Given the description of an element on the screen output the (x, y) to click on. 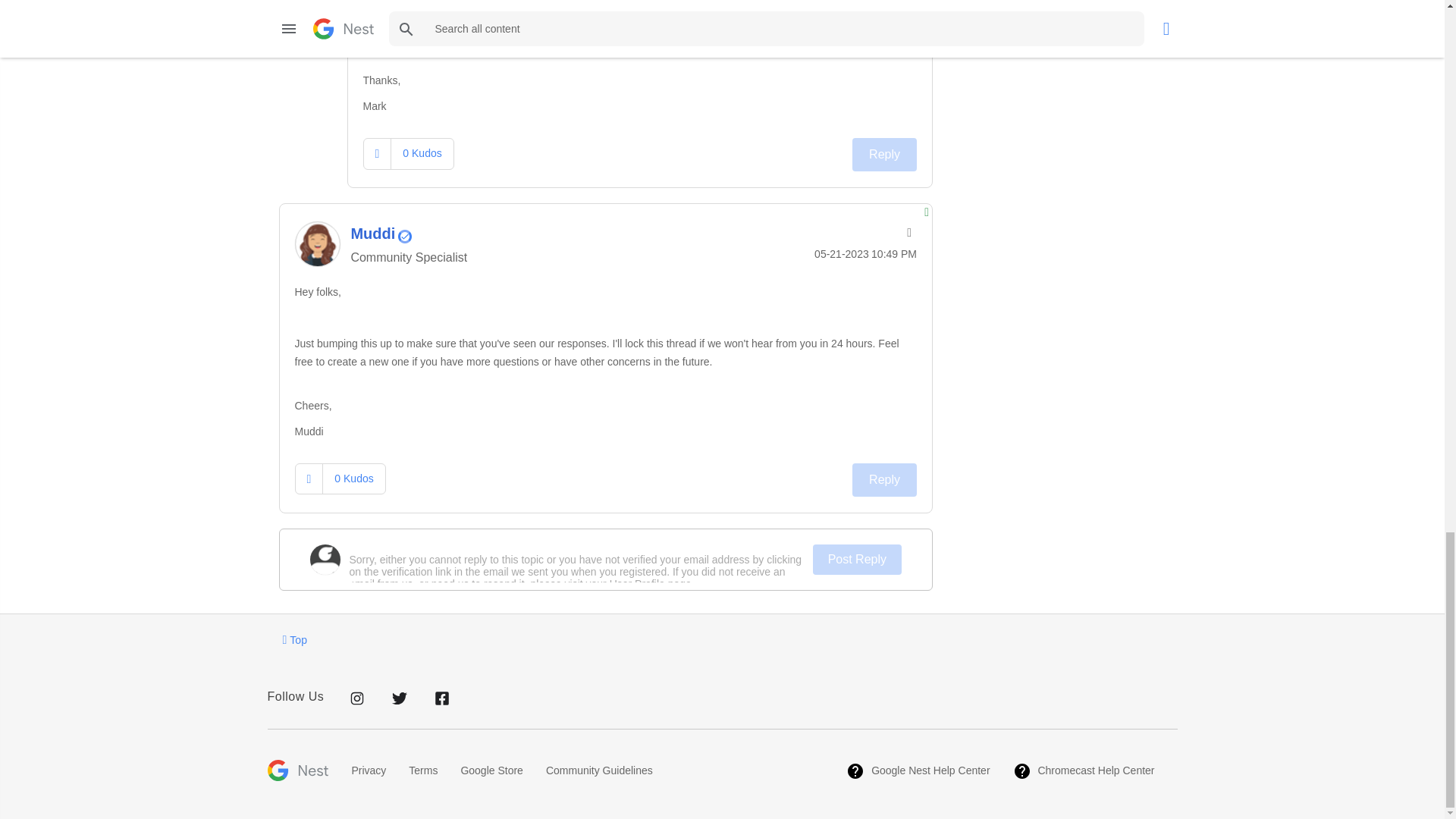
Top (293, 639)
Top (293, 639)
